Given the description of an element on the screen output the (x, y) to click on. 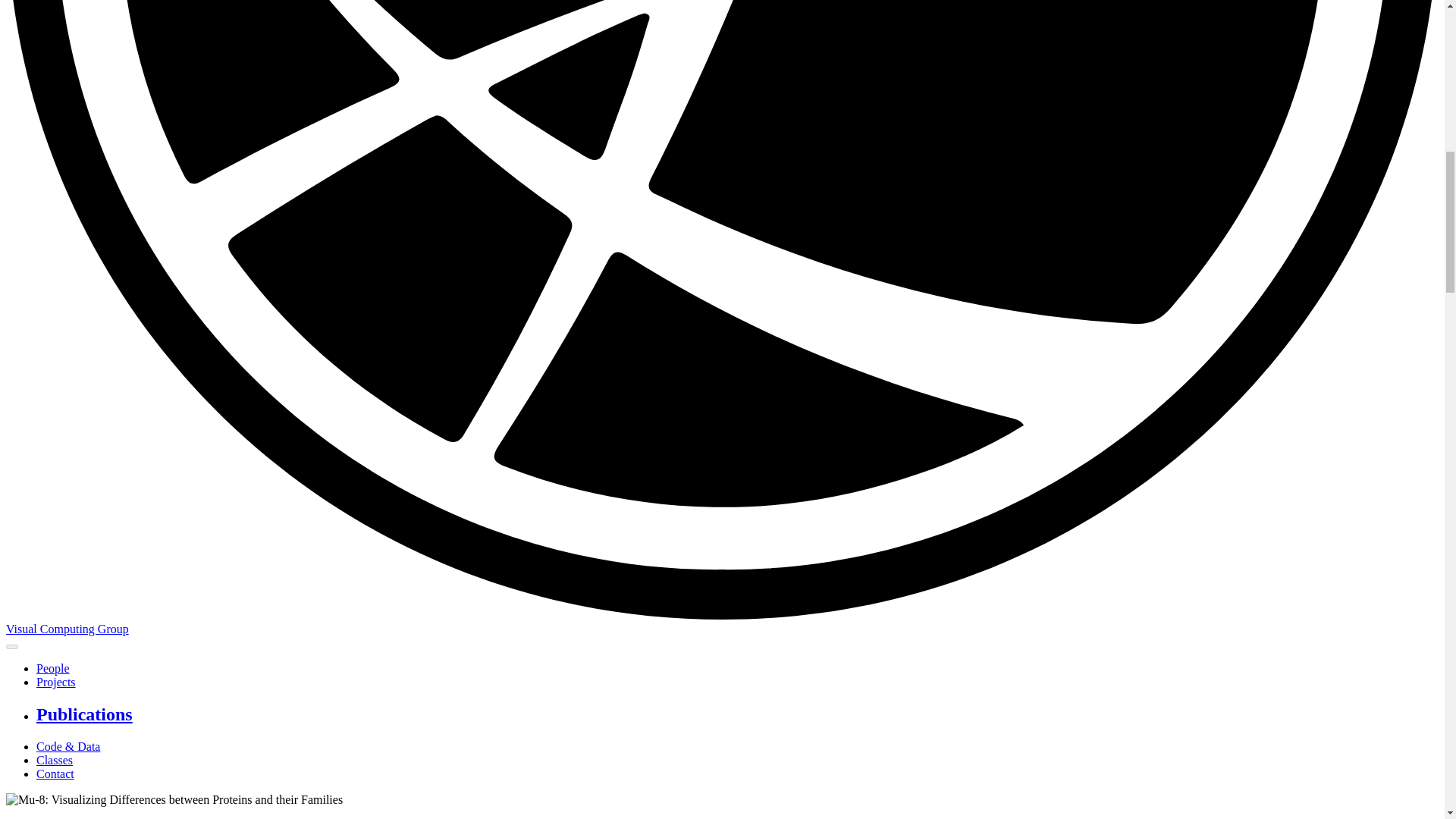
Classes (54, 759)
Publications (84, 713)
Projects (55, 681)
People (52, 667)
Contact (55, 773)
